Given the description of an element on the screen output the (x, y) to click on. 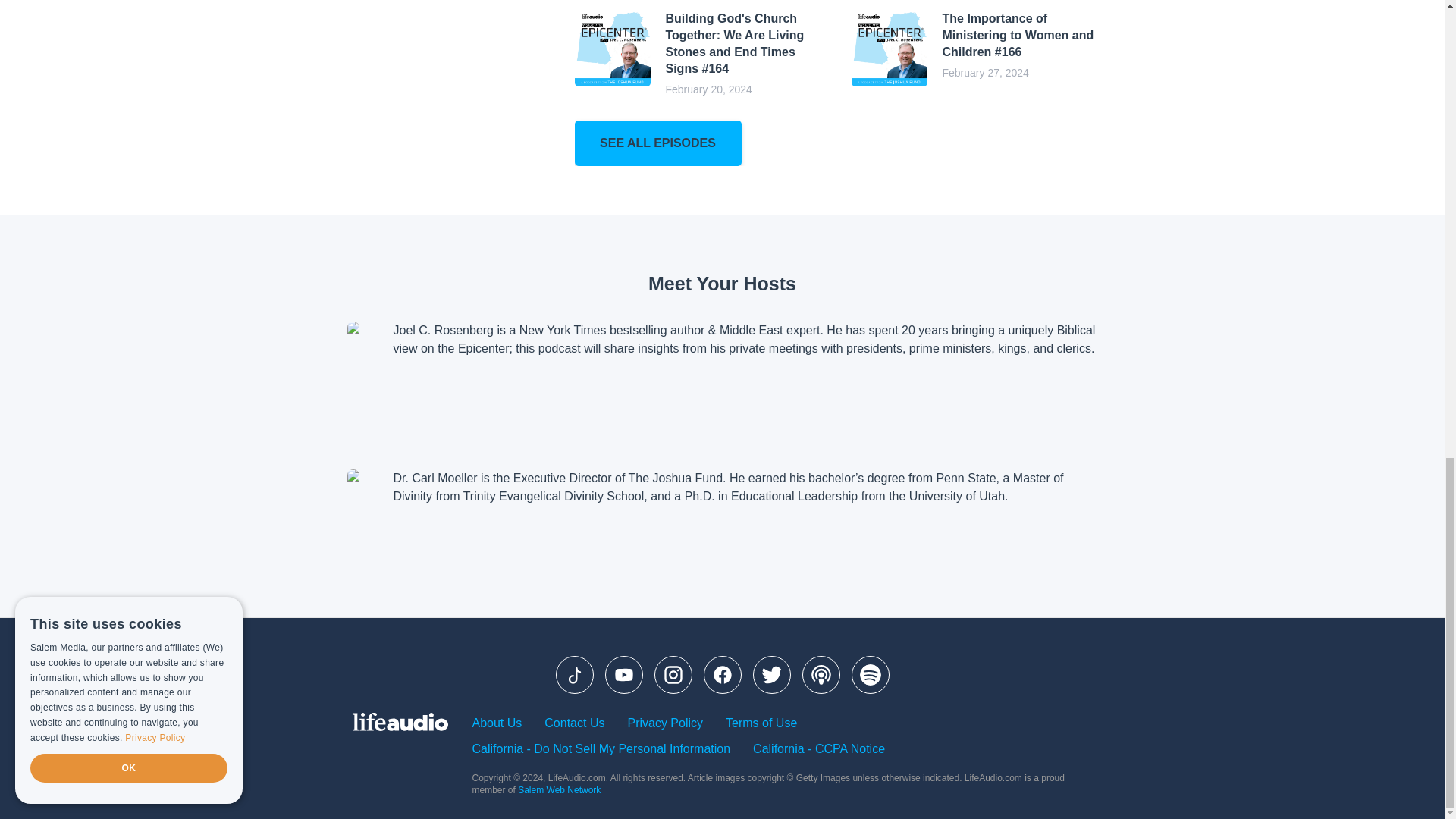
SEE ALL EPISODES (658, 143)
Privacy Policy (665, 723)
California - Do Not Sell My Personal Information (600, 749)
About Us (496, 723)
Terms of Use (760, 723)
Contact Us (574, 723)
